Given the description of an element on the screen output the (x, y) to click on. 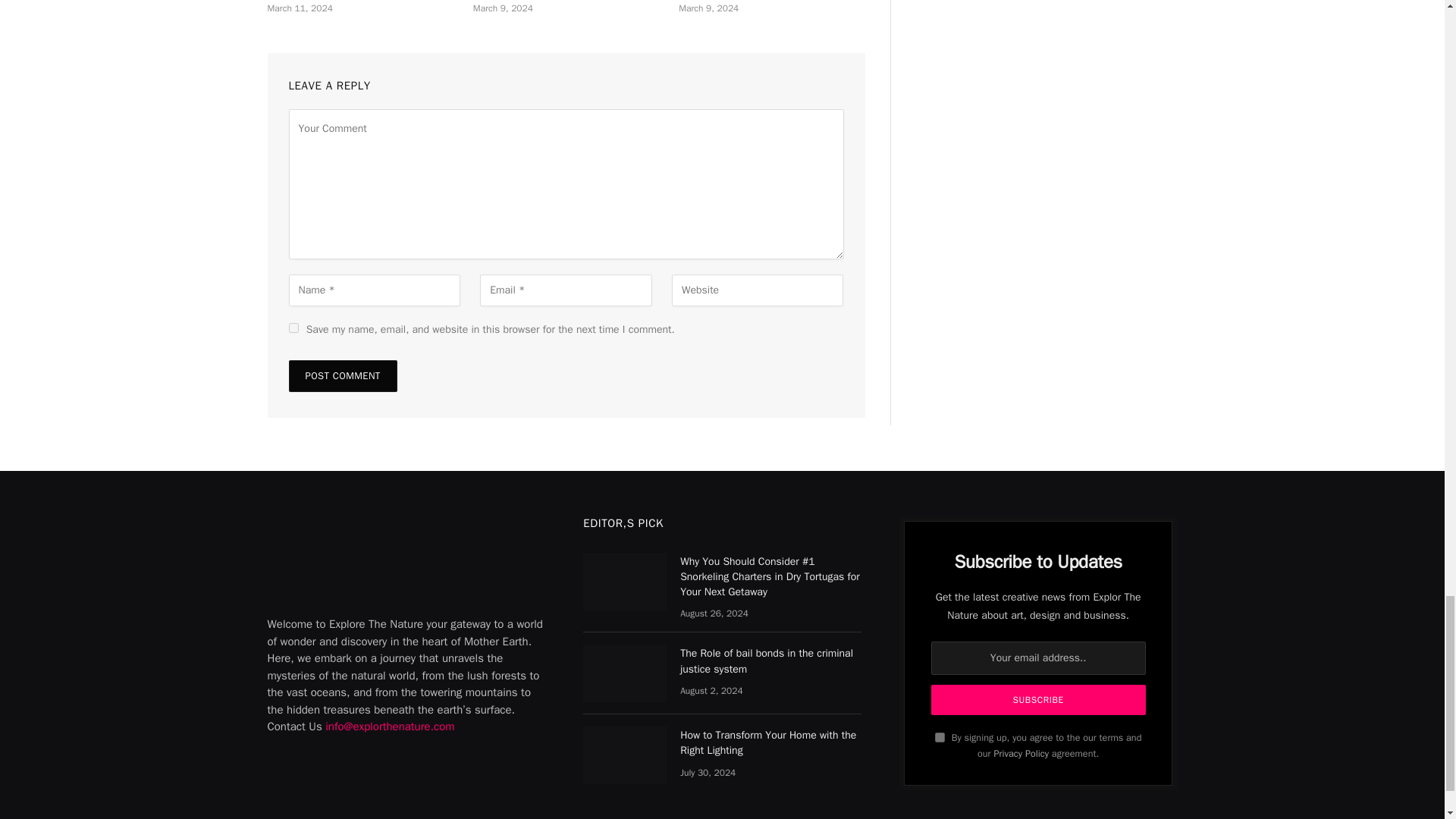
on (939, 737)
Post Comment (342, 376)
yes (293, 327)
Subscribe (1038, 699)
